Given the description of an element on the screen output the (x, y) to click on. 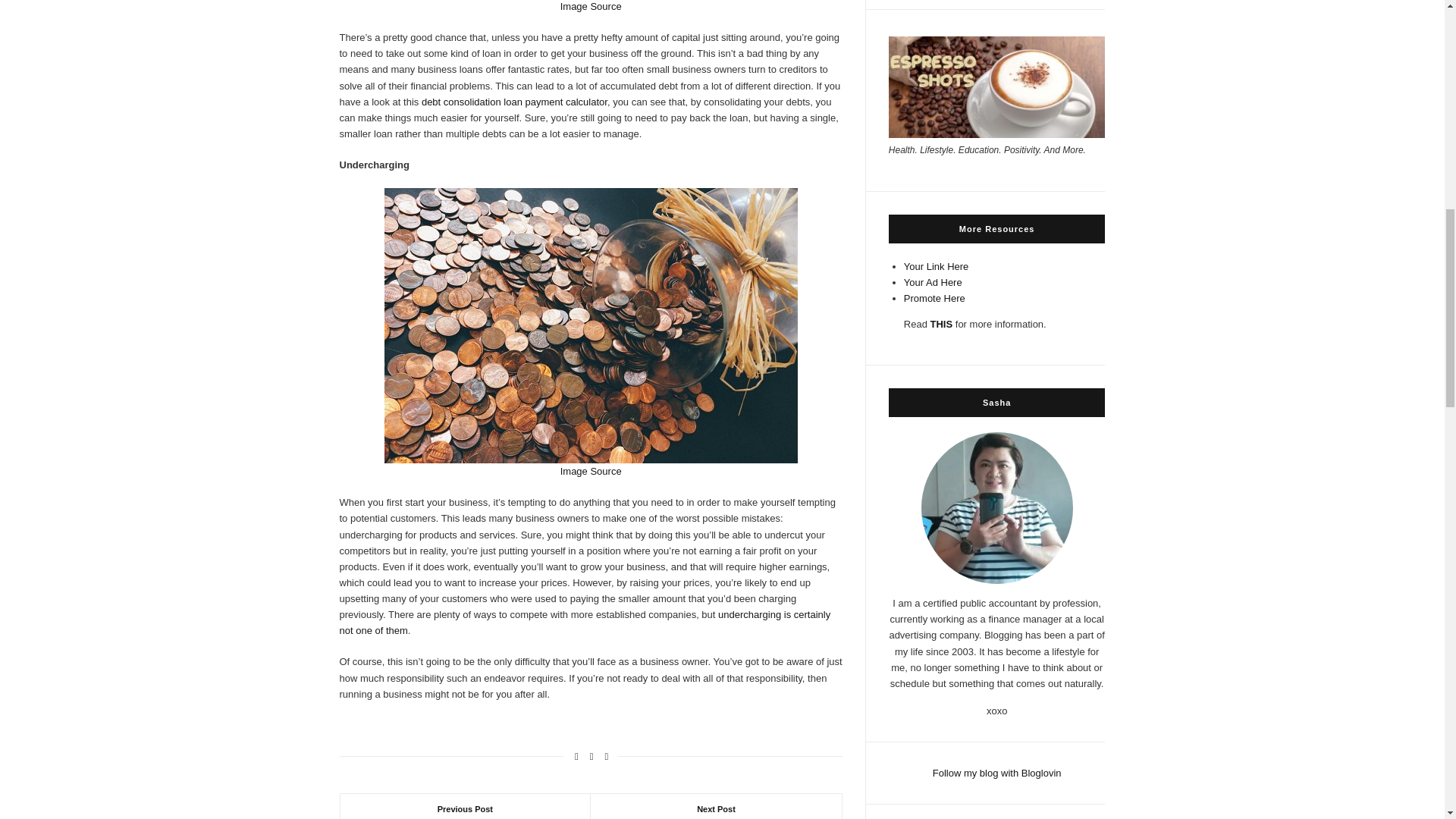
Image Source (590, 471)
Next Post (716, 806)
debt consolidation loan payment calculator (514, 101)
undercharging is certainly not one of them (585, 622)
Previous Post (465, 806)
Your Link Here (936, 266)
Image Source (590, 6)
